Given the description of an element on the screen output the (x, y) to click on. 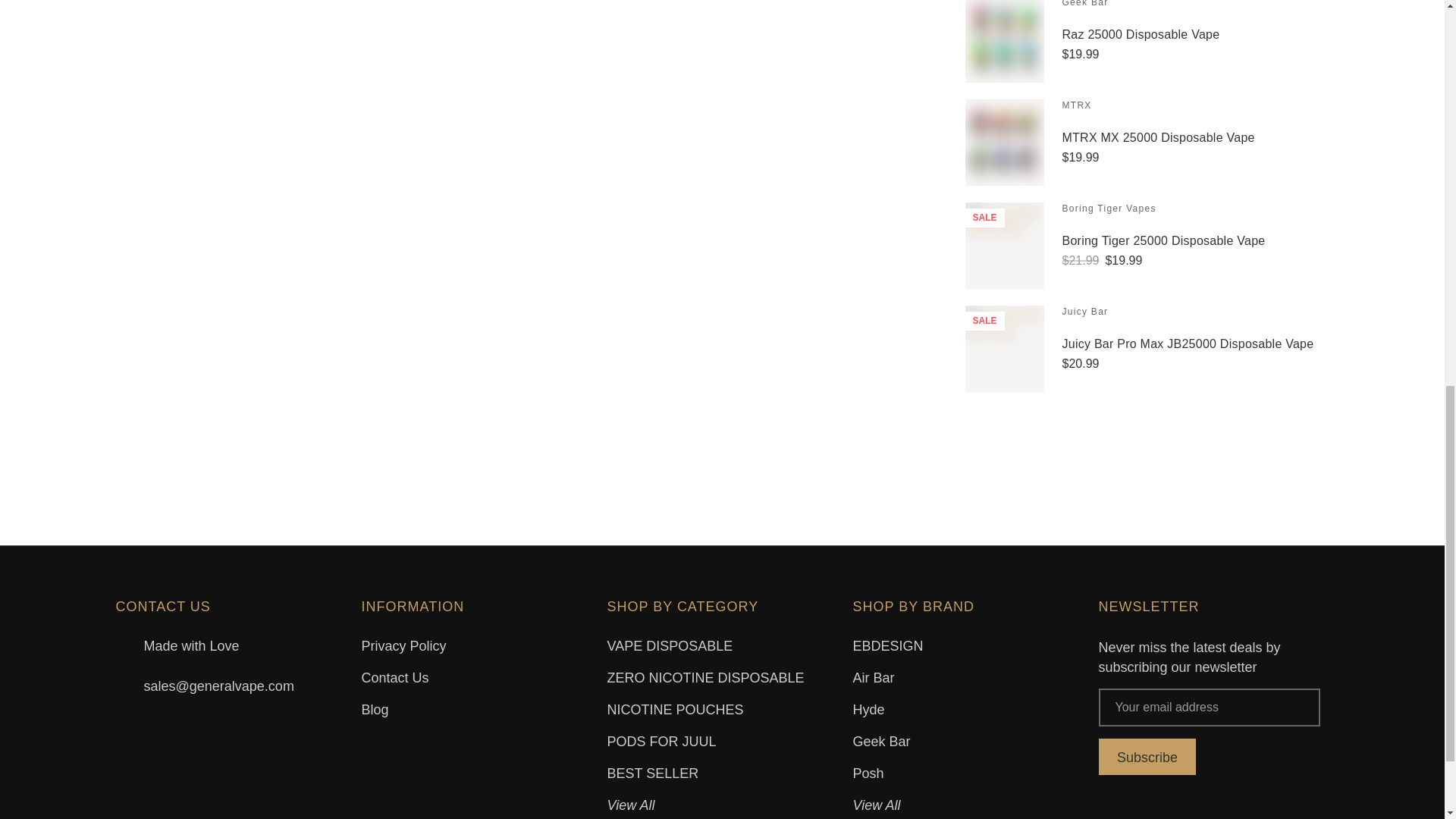
Subscribe (1146, 756)
